Given the description of an element on the screen output the (x, y) to click on. 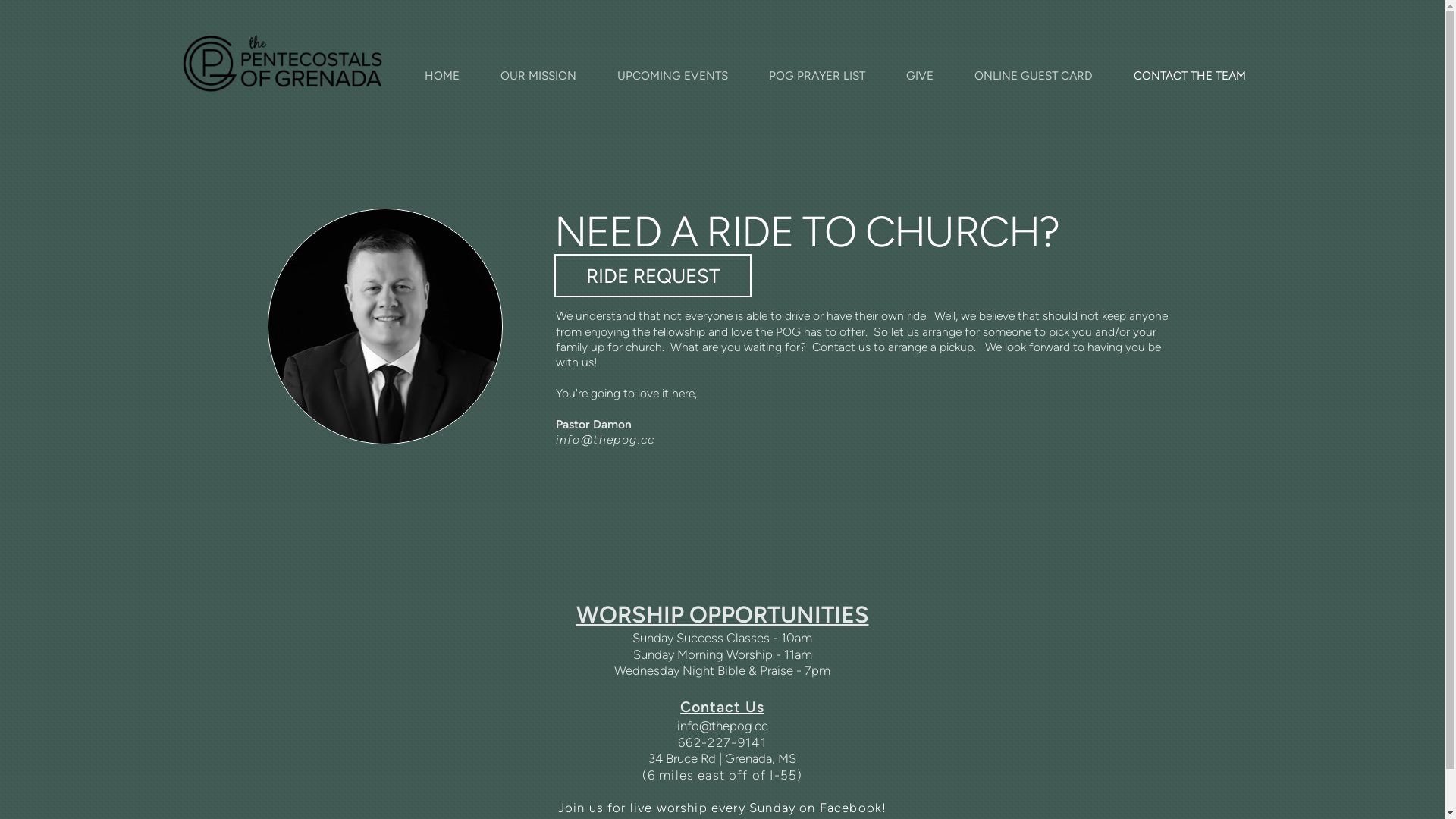
OUR MISSION Element type: text (537, 75)
662-227-9141 Element type: text (721, 741)
CONTACT THE TEAM Element type: text (1189, 75)
UPCOMING EVENTS Element type: text (671, 75)
34 Bruce Rd | Grenada, MS Element type: text (722, 757)
POG PRAYER LIST Element type: text (815, 75)
RIDE REQUEST Element type: text (652, 275)
ONLINE GUEST CARD Element type: text (1033, 75)
HOME Element type: text (441, 75)
GIVE Element type: text (919, 75)
Contact Us Element type: text (722, 706)
info@thepog.cc Element type: text (721, 725)
